Given the description of an element on the screen output the (x, y) to click on. 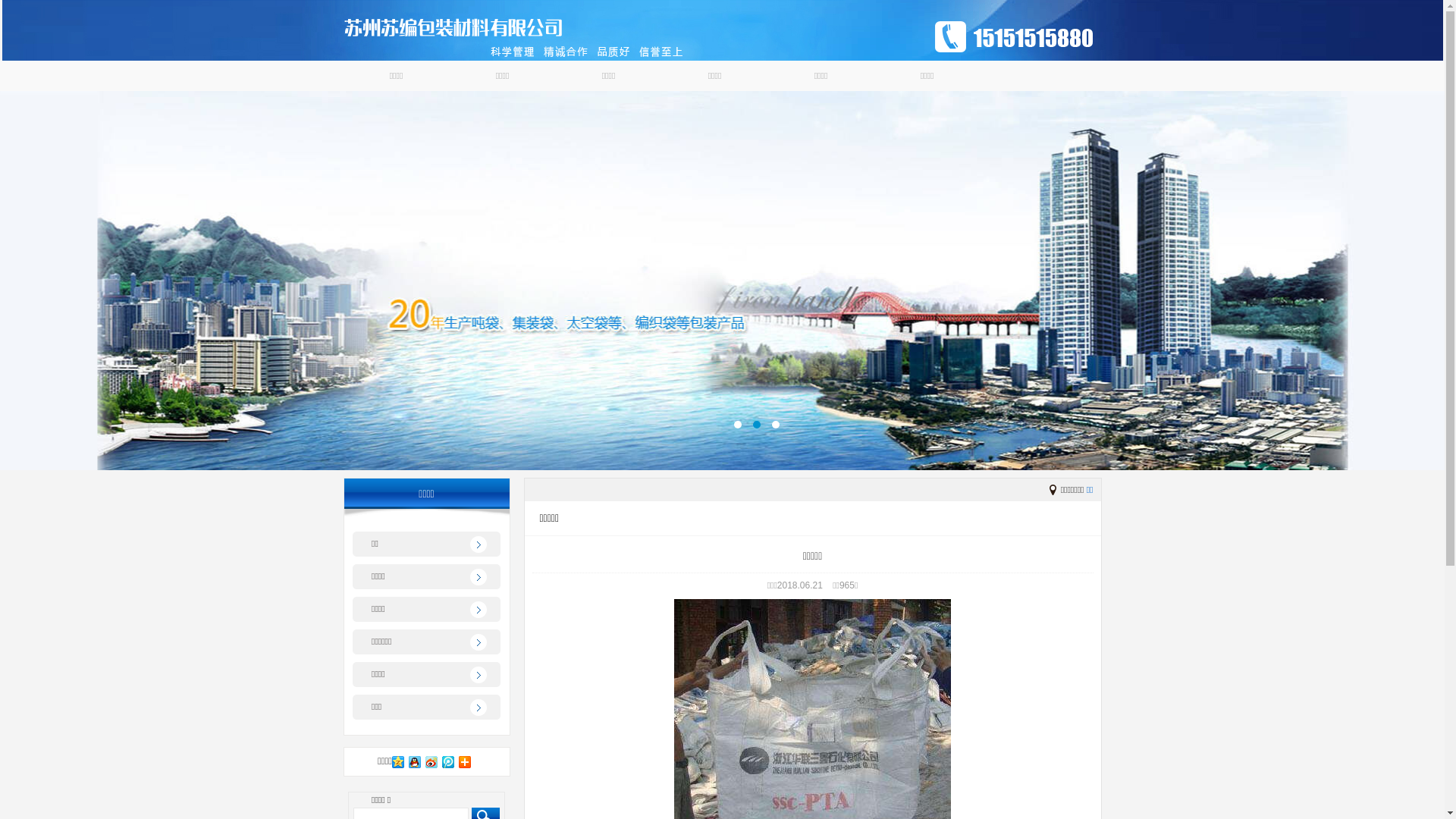
2 Element type: text (755, 424)
1 Element type: text (737, 424)
3 Element type: text (775, 424)
